Given the description of an element on the screen output the (x, y) to click on. 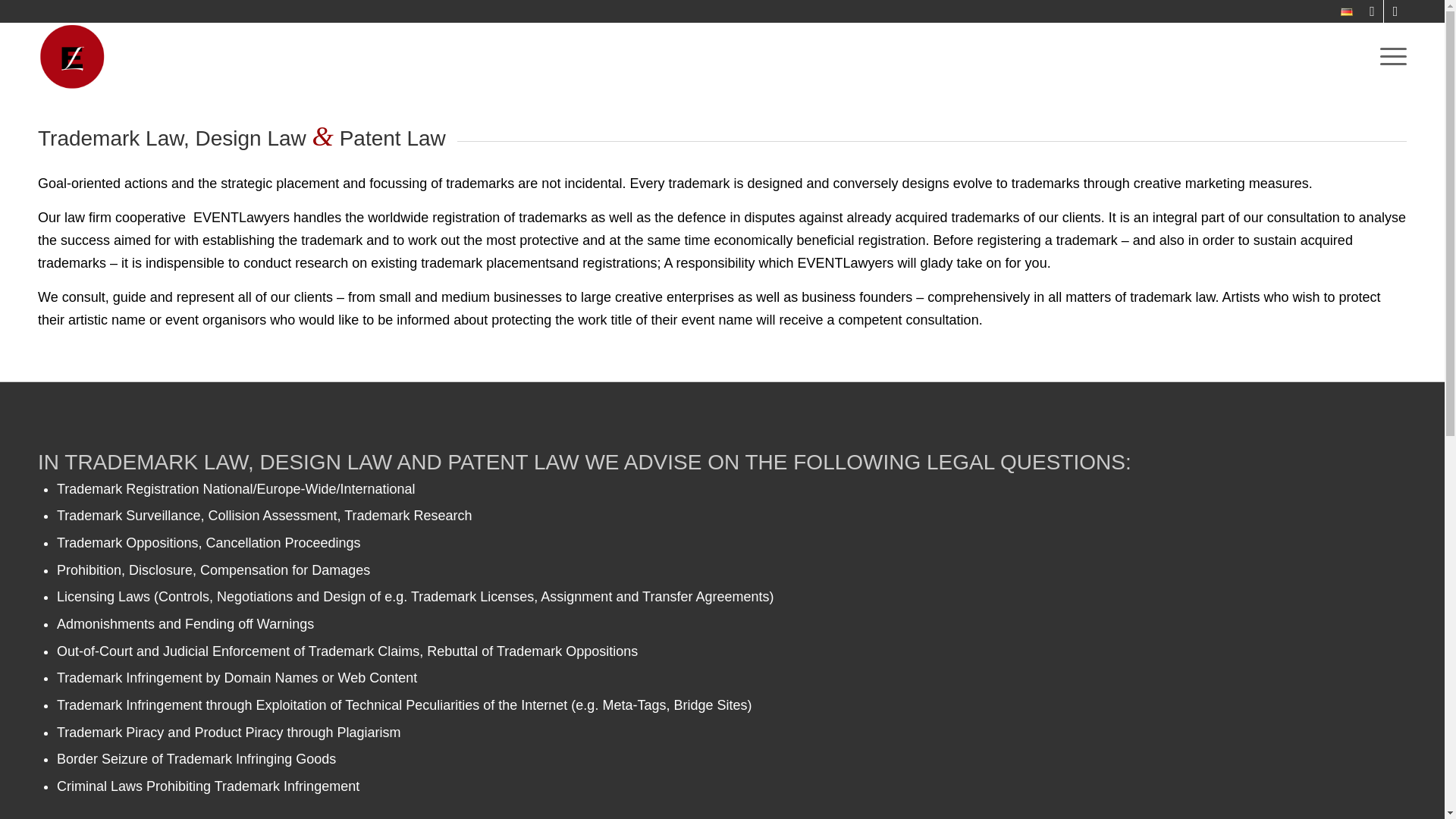
WebsiteIcon (71, 56)
Mail (1372, 11)
LinkedIn (1395, 11)
